Given the description of an element on the screen output the (x, y) to click on. 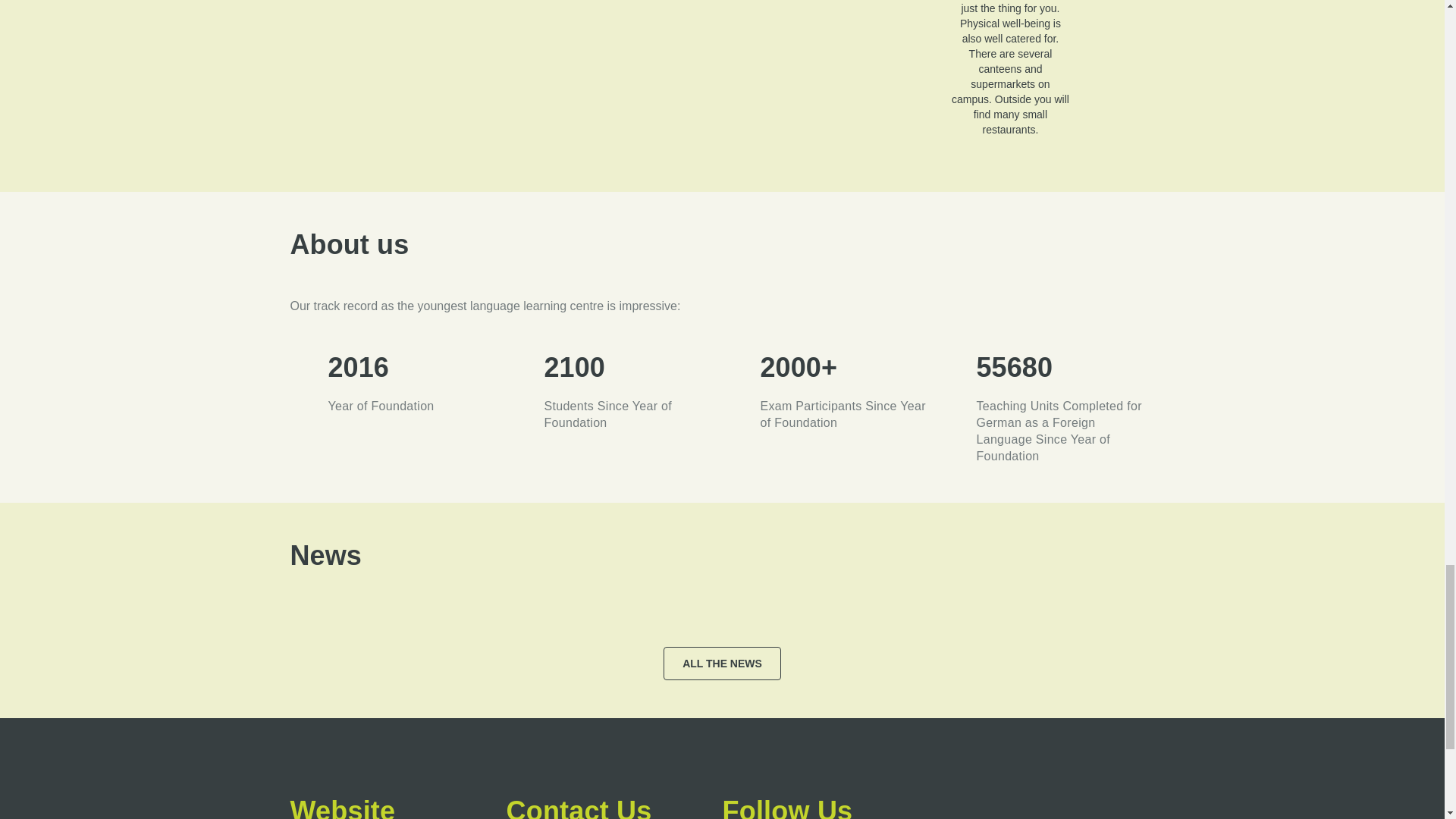
ALL THE NEWS (721, 663)
